Given the description of an element on the screen output the (x, y) to click on. 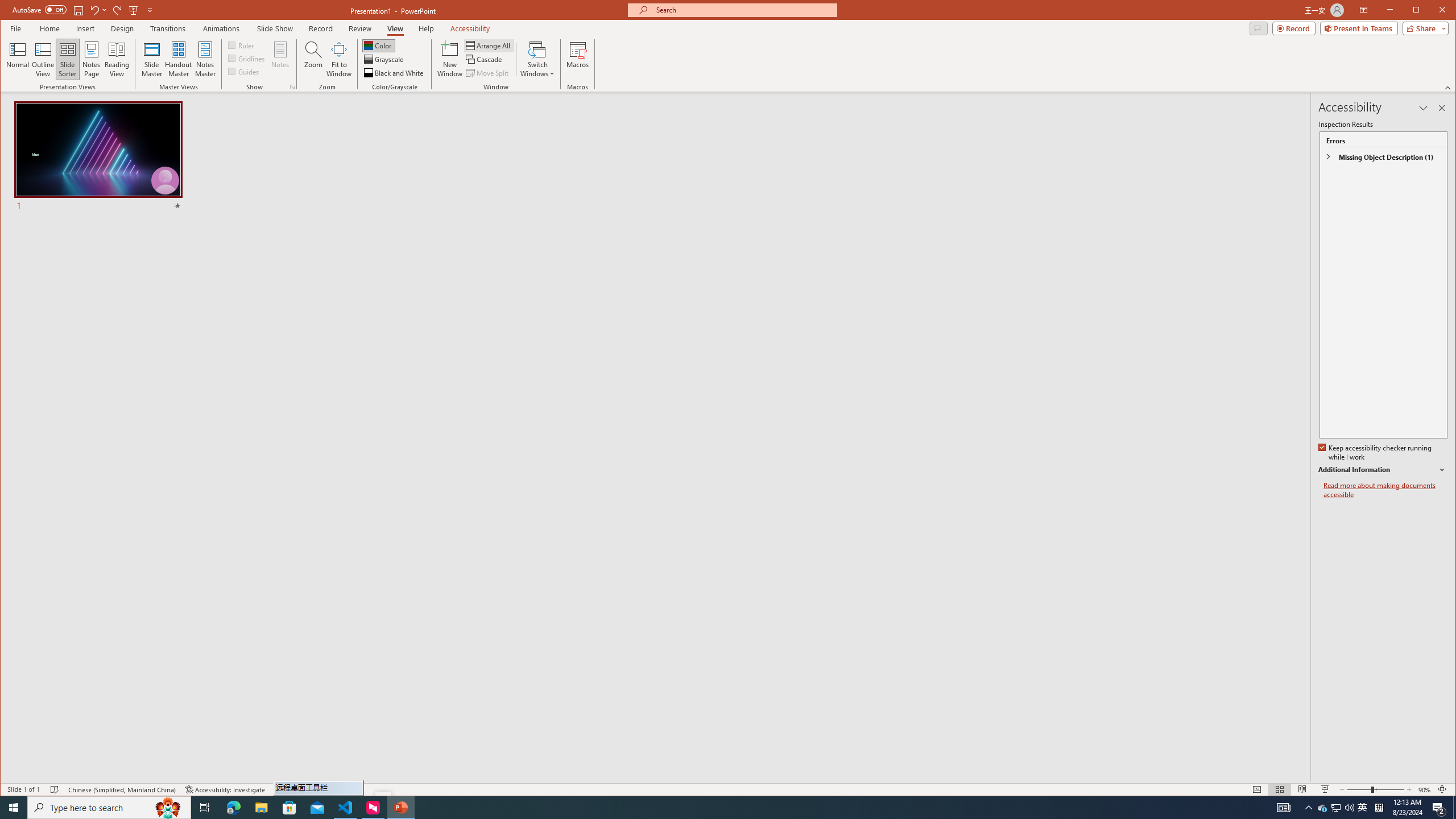
Black and White (394, 72)
Additional Information (1382, 469)
Maximize (1432, 11)
Guides (243, 70)
